Given the description of an element on the screen output the (x, y) to click on. 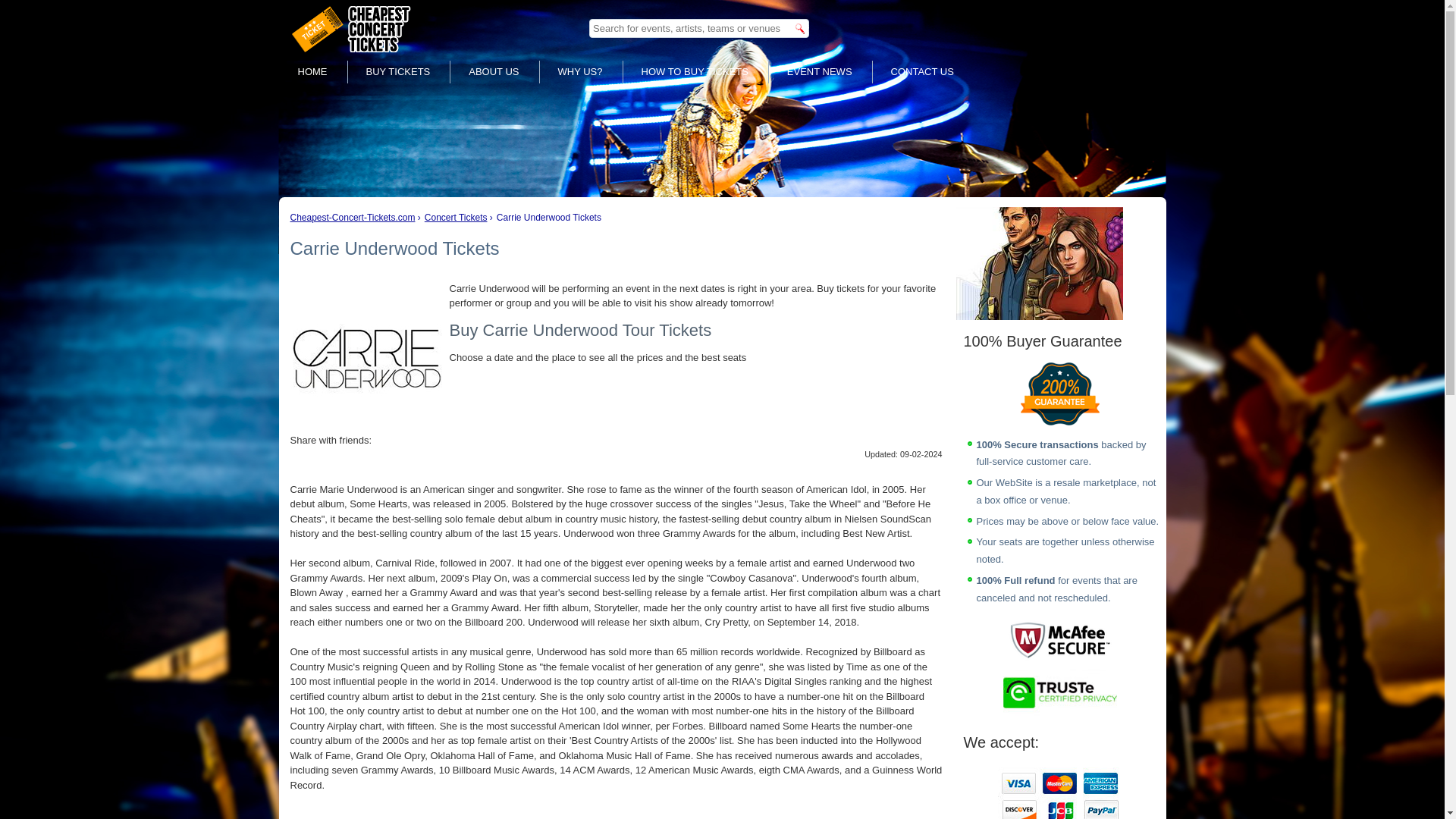
Guarantee (1059, 394)
WHY US? (579, 71)
Carrie Underwood cheap tickets (365, 357)
TRUSTe Certified Privacy (1059, 692)
BUY TICKETS (398, 71)
HOME (312, 71)
ABOUT US (493, 71)
CONTACT US (922, 71)
Accepted payments (1059, 790)
McAfee Secure: Certified Site (1059, 639)
